Given the description of an element on the screen output the (x, y) to click on. 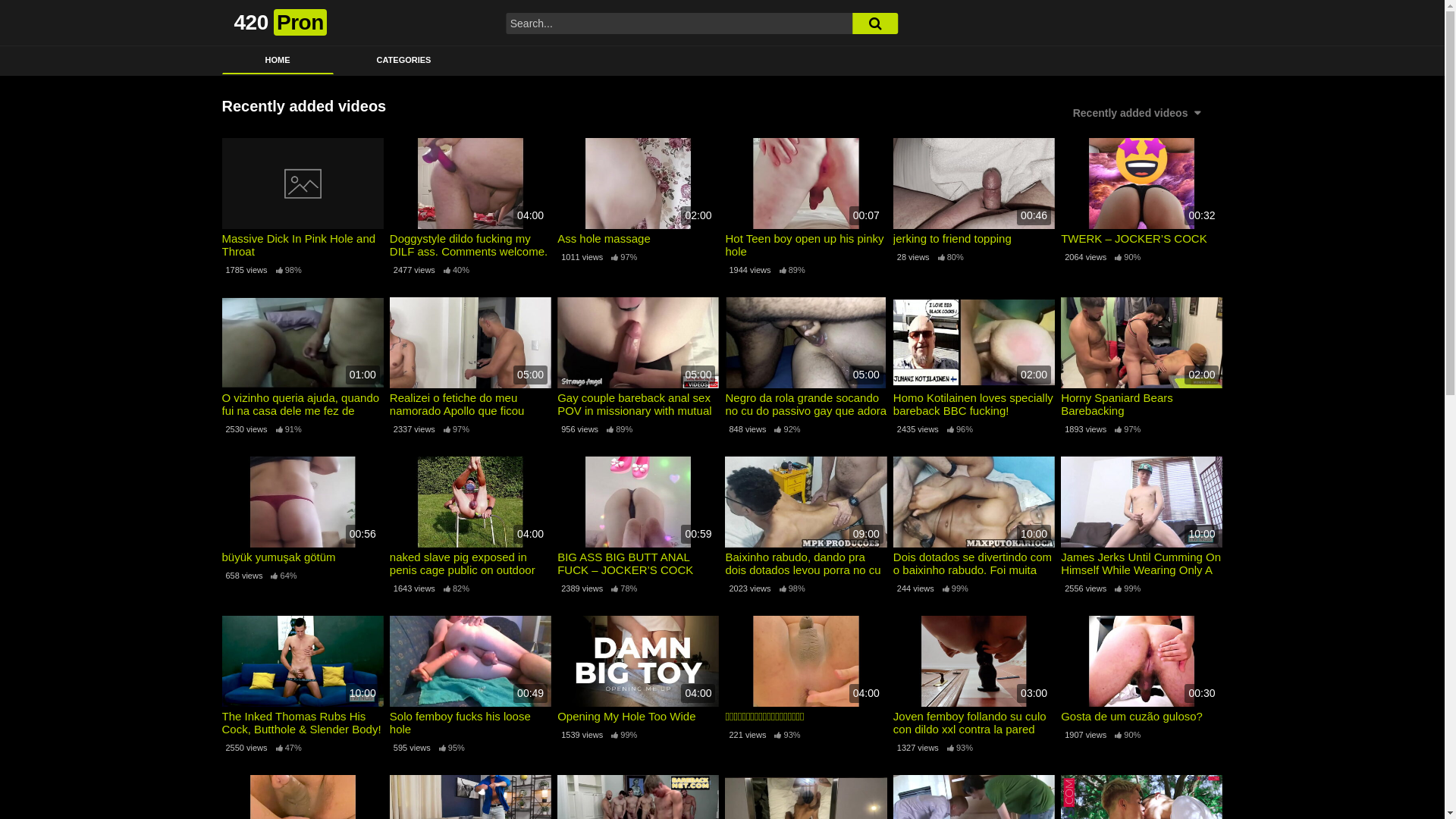
00:59 Element type: text (637, 501)
05:00 Element type: text (805, 342)
Massive Dick In Pink Hole and Throat Element type: text (301, 244)
Joven femboy follando su culo con dildo xxl contra la pared Element type: text (973, 722)
Opening My Hole Too Wide Element type: text (637, 715)
04:00 Element type: text (637, 660)
Doggystyle dildo fucking my DILF ass. Comments welcome. Element type: text (470, 244)
02:00 Element type: text (637, 183)
Ass hole massage Element type: text (637, 238)
10:00 Element type: text (301, 660)
Horny Spaniard Bears Barebacking Element type: text (1141, 404)
01:00 Element type: text (301, 342)
05:00 Element type: text (637, 342)
02:00 Element type: text (1141, 342)
00:32 Element type: text (1141, 183)
04:00 Element type: text (470, 501)
jerking to friend topping Element type: text (973, 238)
CATEGORIES Element type: text (403, 60)
09:00 Element type: text (805, 501)
04:00 Element type: text (805, 660)
10:00 Element type: text (1141, 501)
00:49 Element type: text (470, 660)
420 Pron Element type: text (279, 22)
00:30 Element type: text (1141, 660)
03:00 Element type: text (973, 660)
00:46 Element type: text (973, 183)
02:00 Element type: text (973, 342)
05:00 Element type: text (470, 342)
HOME Element type: text (276, 60)
10:00 Element type: text (973, 501)
00:07 Element type: text (805, 183)
04:00 Element type: text (470, 183)
Solo femboy fucks his loose hole Element type: text (470, 722)
Homo Kotilainen loves specially bareback BBC fucking! Element type: text (973, 404)
The Inked Thomas Rubs His Cock, Butthole & Slender Body! Element type: text (301, 722)
00:56 Element type: text (301, 501)
Hot Teen boy open up his pinky hole Element type: text (805, 244)
